Given the description of an element on the screen output the (x, y) to click on. 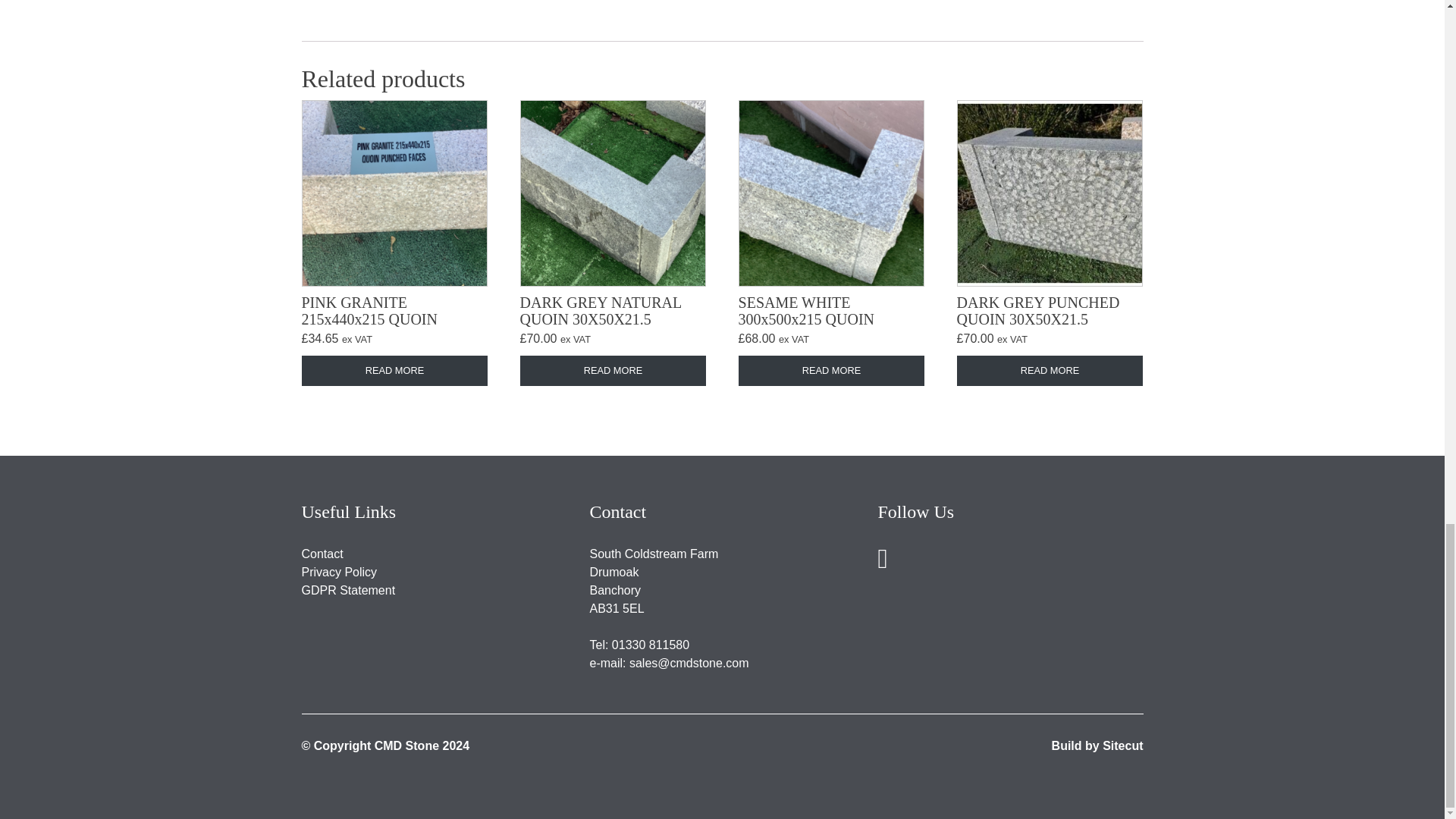
Contact (322, 553)
Build by Sitecut (1096, 745)
READ MORE (394, 369)
READ MORE (612, 369)
READ MORE (831, 369)
READ MORE (1049, 369)
GDPR Statement (348, 590)
Privacy Policy (339, 571)
